Given the description of an element on the screen output the (x, y) to click on. 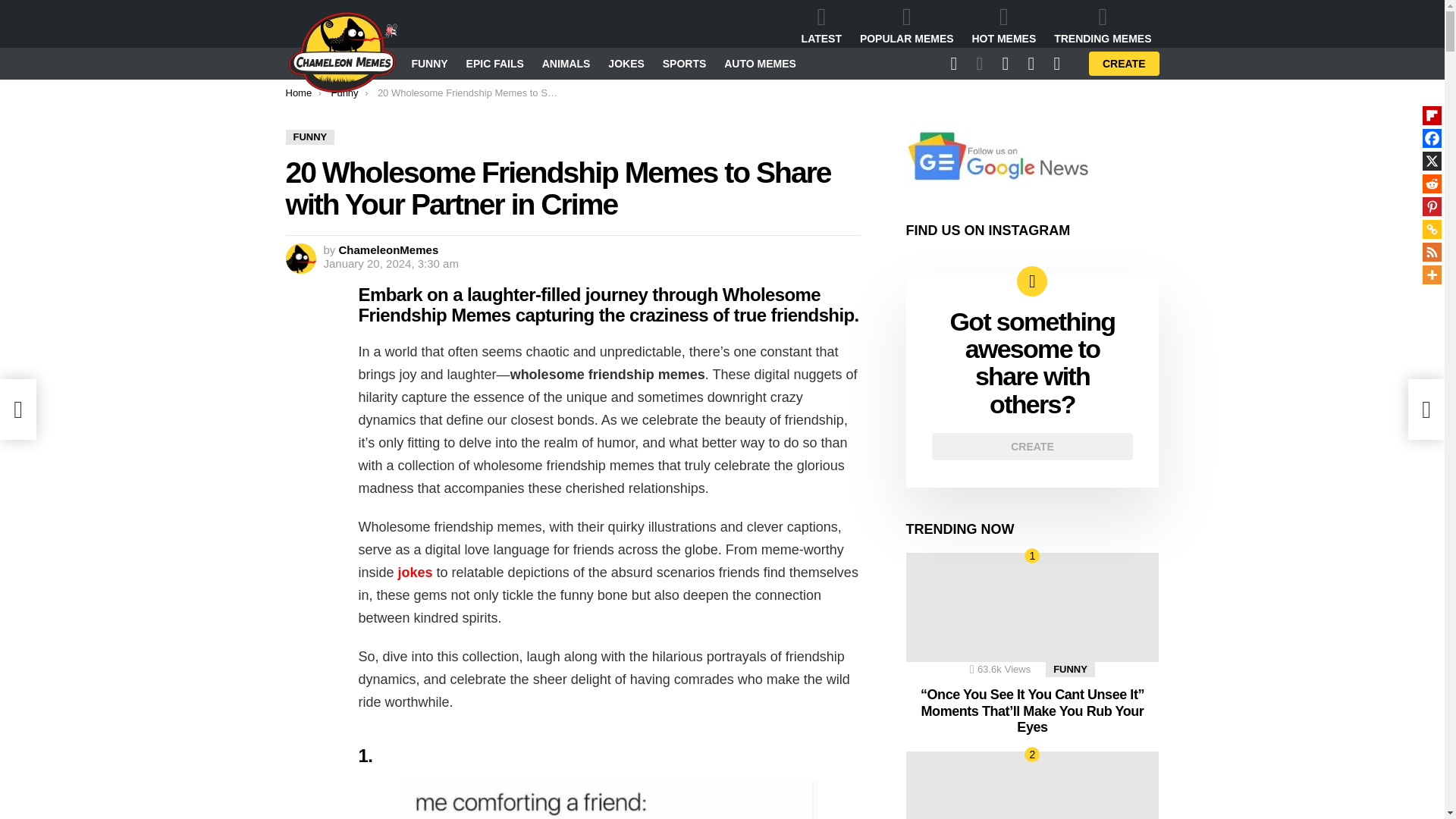
AUTO MEMES (759, 63)
POPULAR MEMES (905, 24)
Home (298, 92)
FUNNY (428, 63)
ANIMALS (566, 63)
CREATE (1123, 63)
FUNNY (309, 136)
EPIC FAILS (494, 63)
Subscribe (893, 222)
JOKES (624, 63)
LATEST (820, 24)
Posts by ChameleonMemes (389, 249)
HOT MEMES (1003, 24)
ChameleonMemes (389, 249)
